Given the description of an element on the screen output the (x, y) to click on. 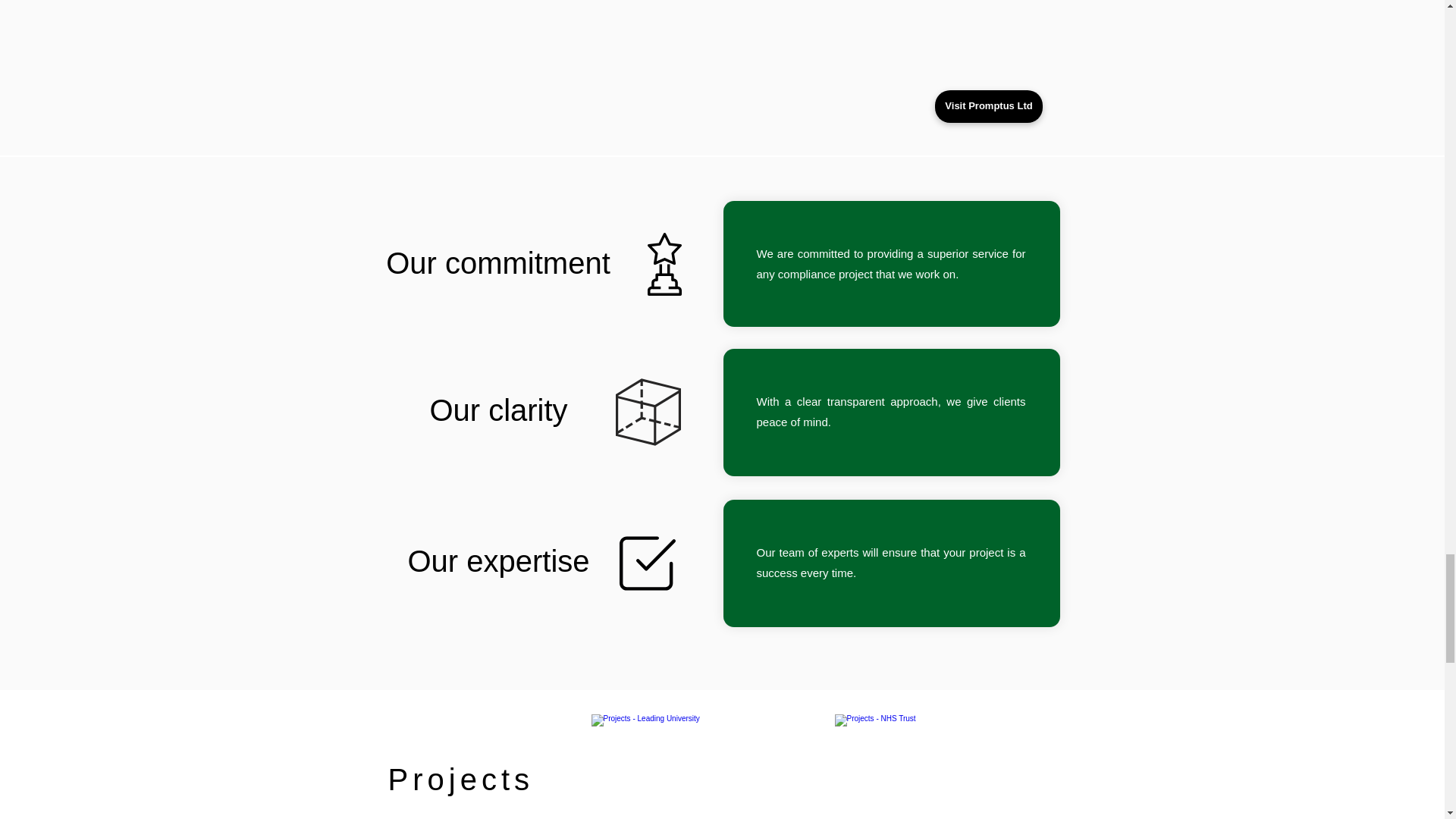
Leading University (710, 793)
Visit Promptus Ltd (988, 106)
